Given the description of an element on the screen output the (x, y) to click on. 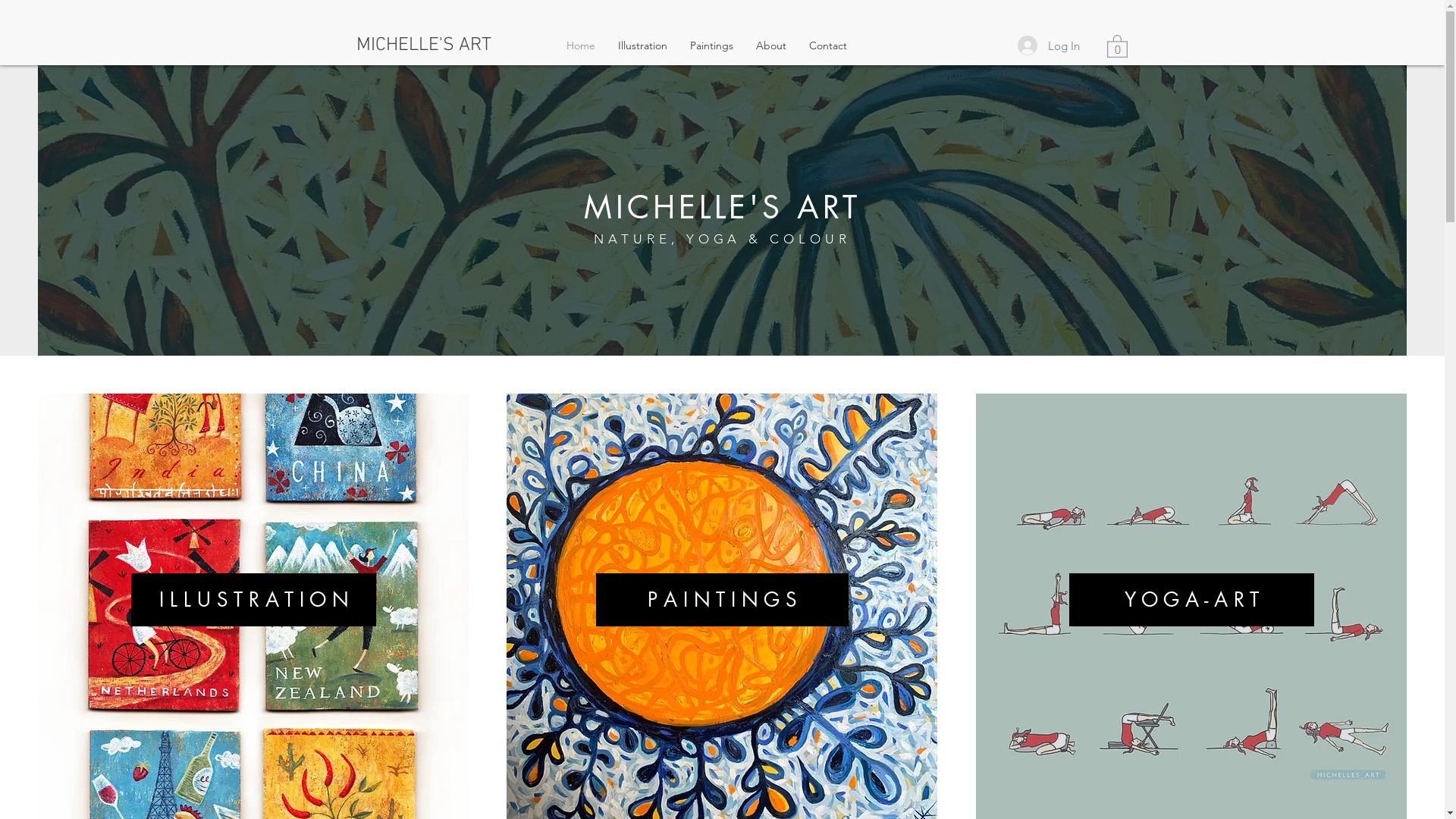
Contact Element type: text (827, 45)
Home Element type: text (580, 45)
Log In Element type: text (1048, 45)
MICHELLE'S ART Element type: text (423, 45)
I L L U S T R A T I O N Element type: text (253, 599)
Paintings Element type: text (710, 45)
P A I N T I N G S Element type: text (722, 599)
Y O G A - A R T Element type: text (1191, 599)
0 Element type: text (1117, 45)
Illustration Element type: text (642, 45)
About Element type: text (770, 45)
